Given the description of an element on the screen output the (x, y) to click on. 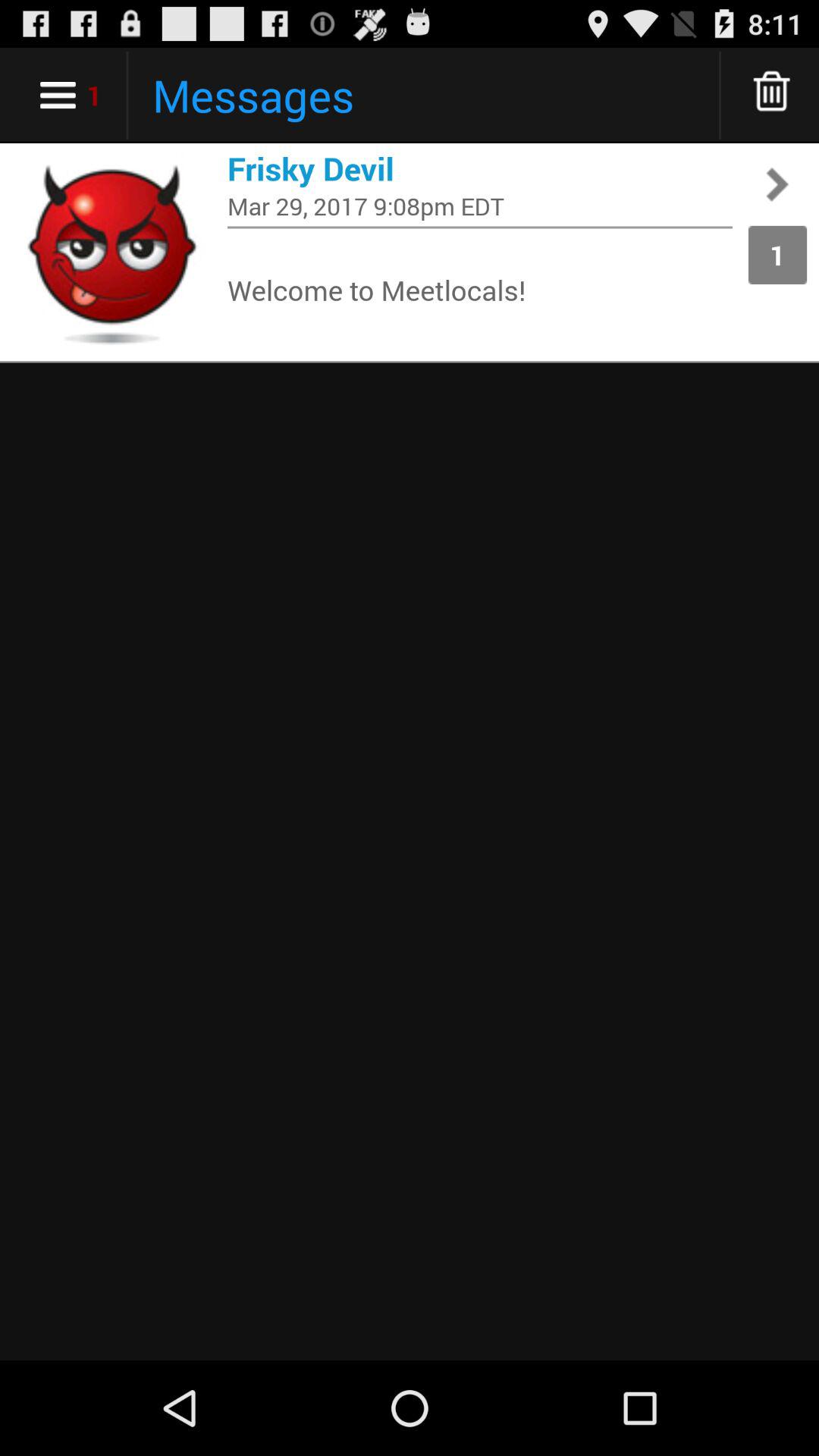
turn off the item next to 1 (479, 205)
